Given the description of an element on the screen output the (x, y) to click on. 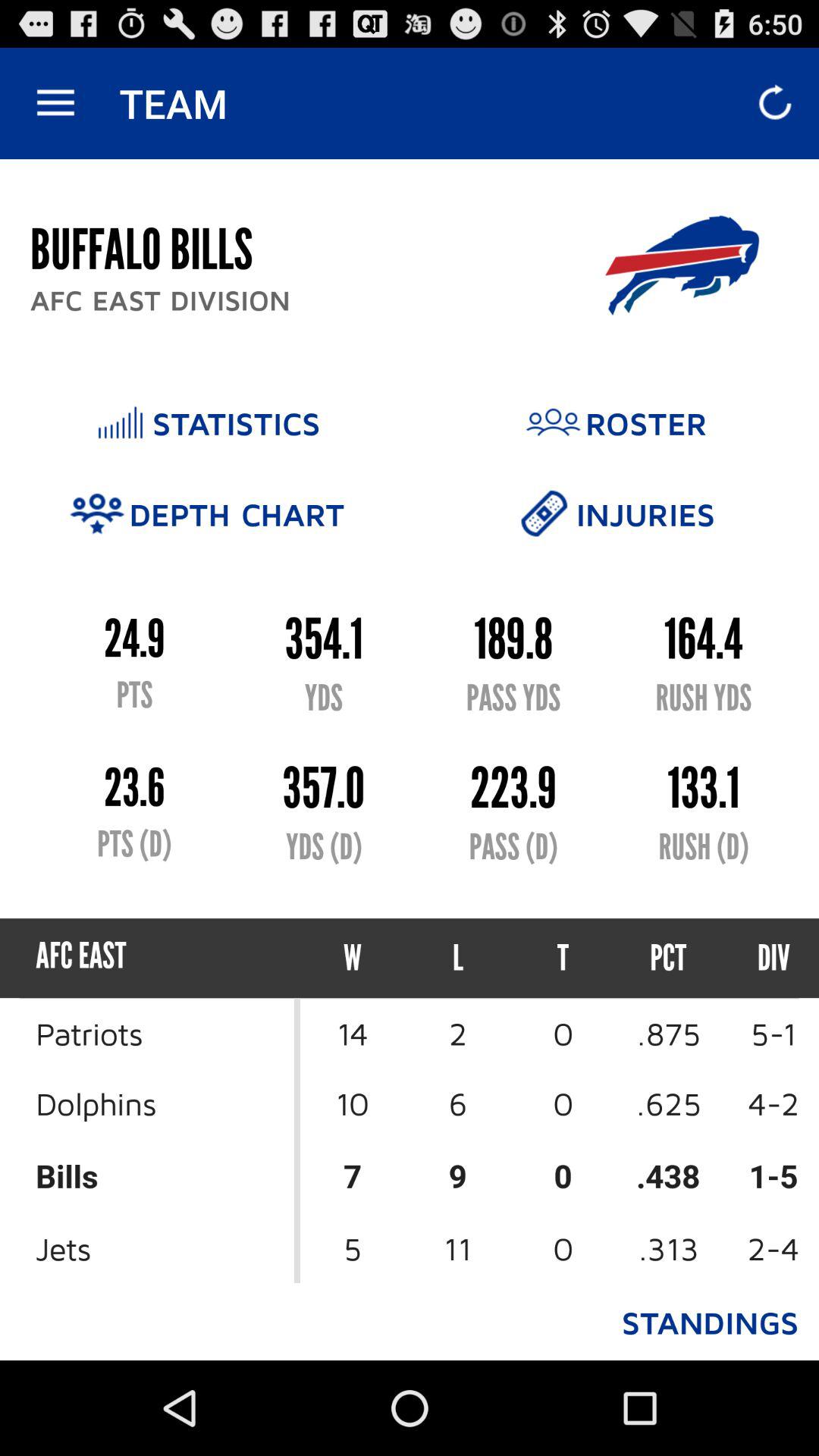
select the div item (760, 958)
